Given the description of an element on the screen output the (x, y) to click on. 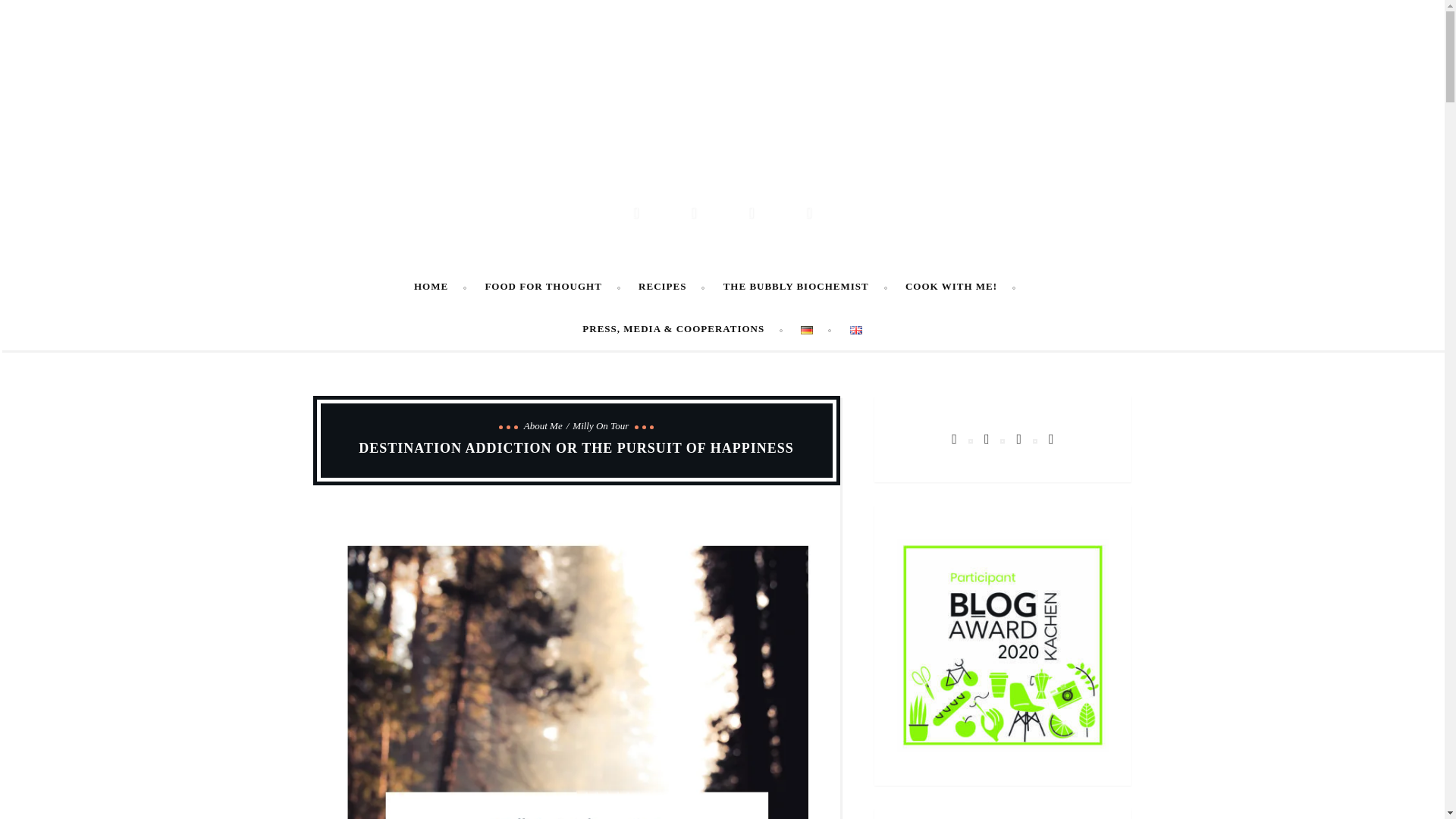
Instagram (807, 211)
THE BUBBLY BIOCHEMIST (804, 286)
Pinterest (692, 211)
Milly on tour (600, 426)
HOME (439, 286)
Facebook (634, 211)
FOOD FOR THOUGHT (552, 286)
MILLY'S MELTING POT (722, 131)
..PAUSE FOR A MOMENT.. (721, 169)
About me (546, 426)
